Given the description of an element on the screen output the (x, y) to click on. 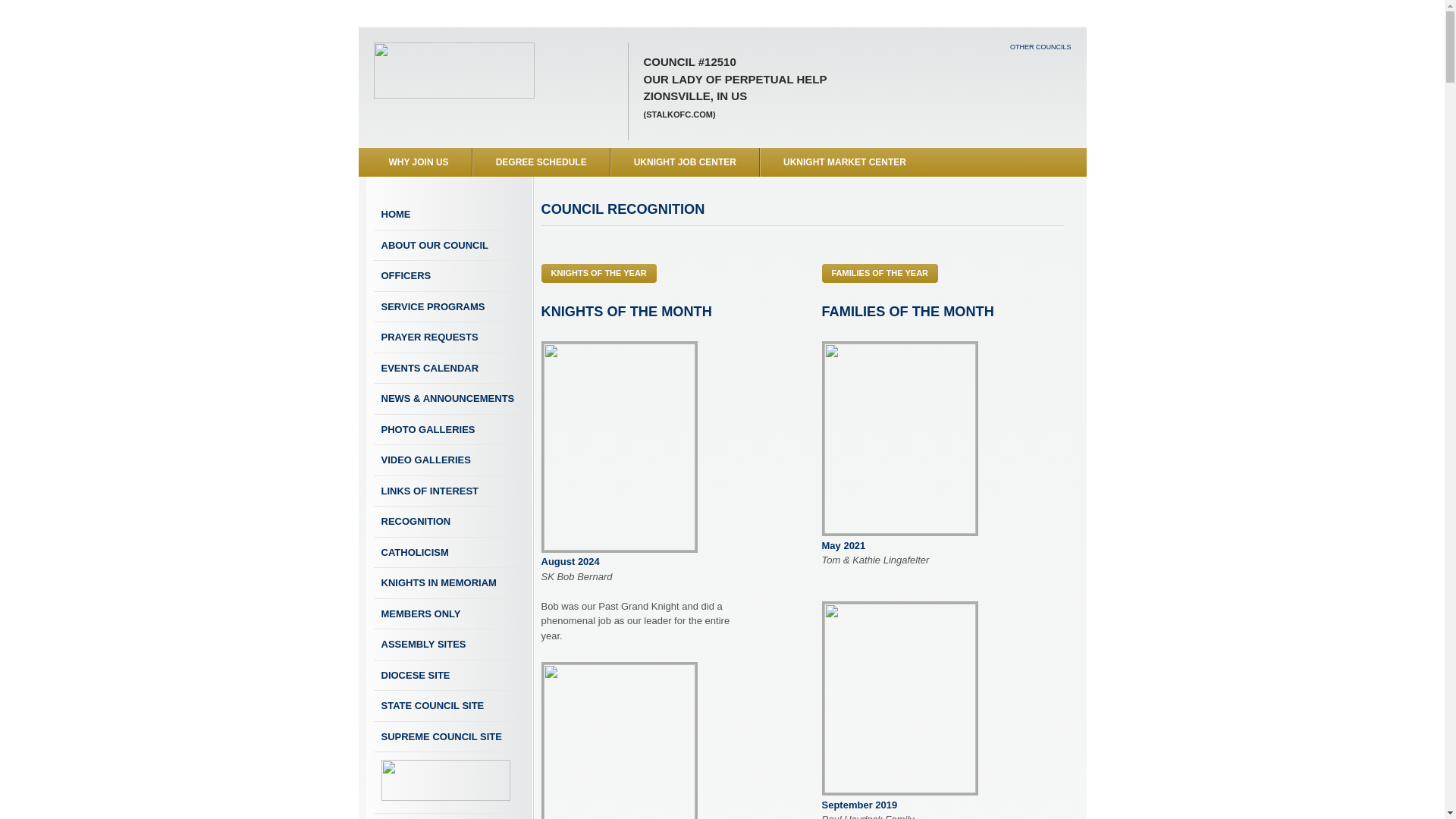
OTHER COUNCILS (1040, 46)
DIOCESE SITE (448, 675)
STATE COUNCIL SITE (448, 706)
CATHOLICISM (448, 552)
HOME (448, 214)
KNIGHTS IN MEMORIAM (448, 583)
KNIGHTS OF THE YEAR (598, 272)
LINKS OF INTEREST (448, 490)
RECOGNITION (448, 521)
ASSEMBLY SITES (448, 644)
